Given the description of an element on the screen output the (x, y) to click on. 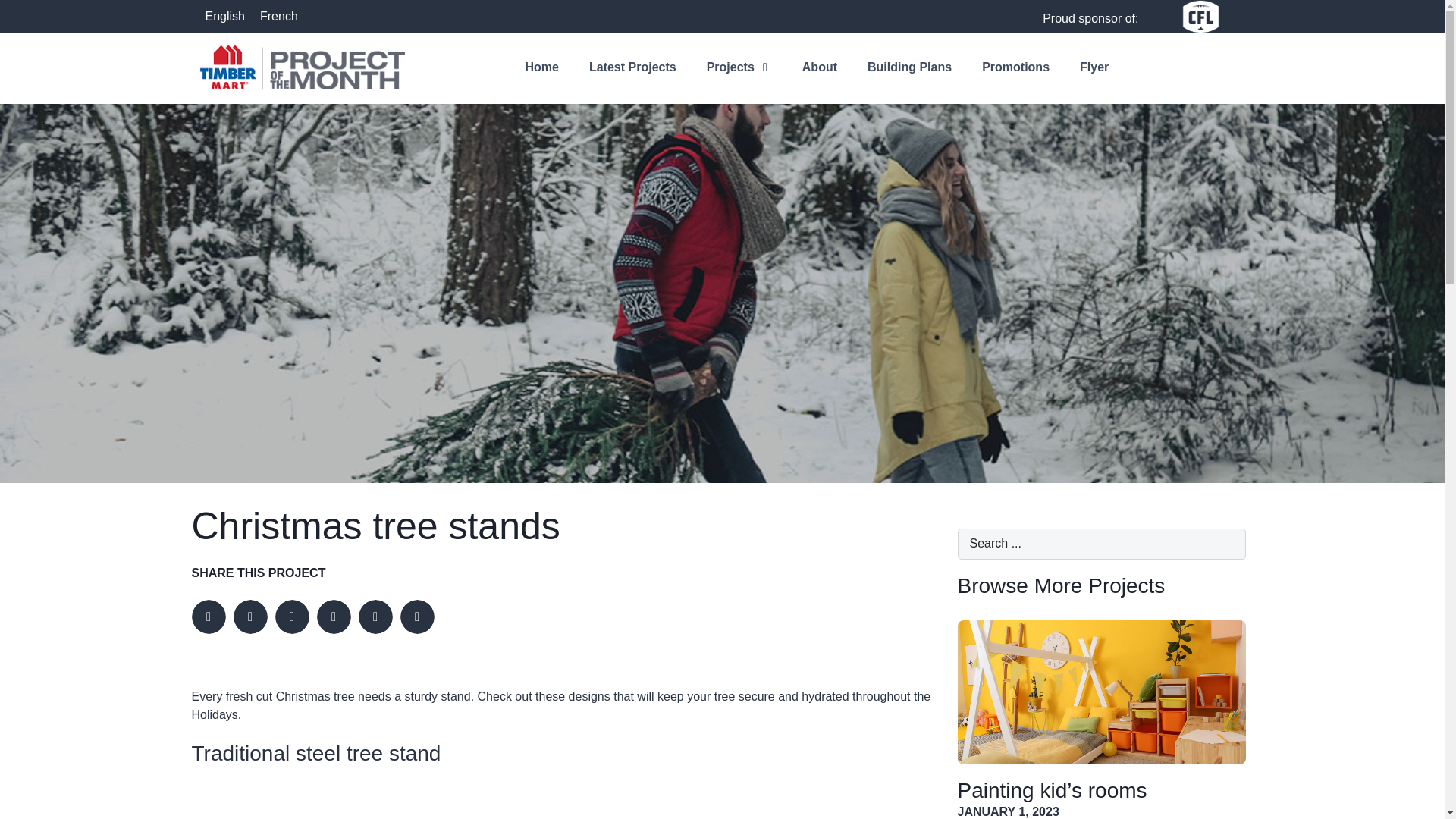
English (223, 16)
2023-01-01T01:30:38-05:00 (1007, 811)
French (278, 16)
